Given the description of an element on the screen output the (x, y) to click on. 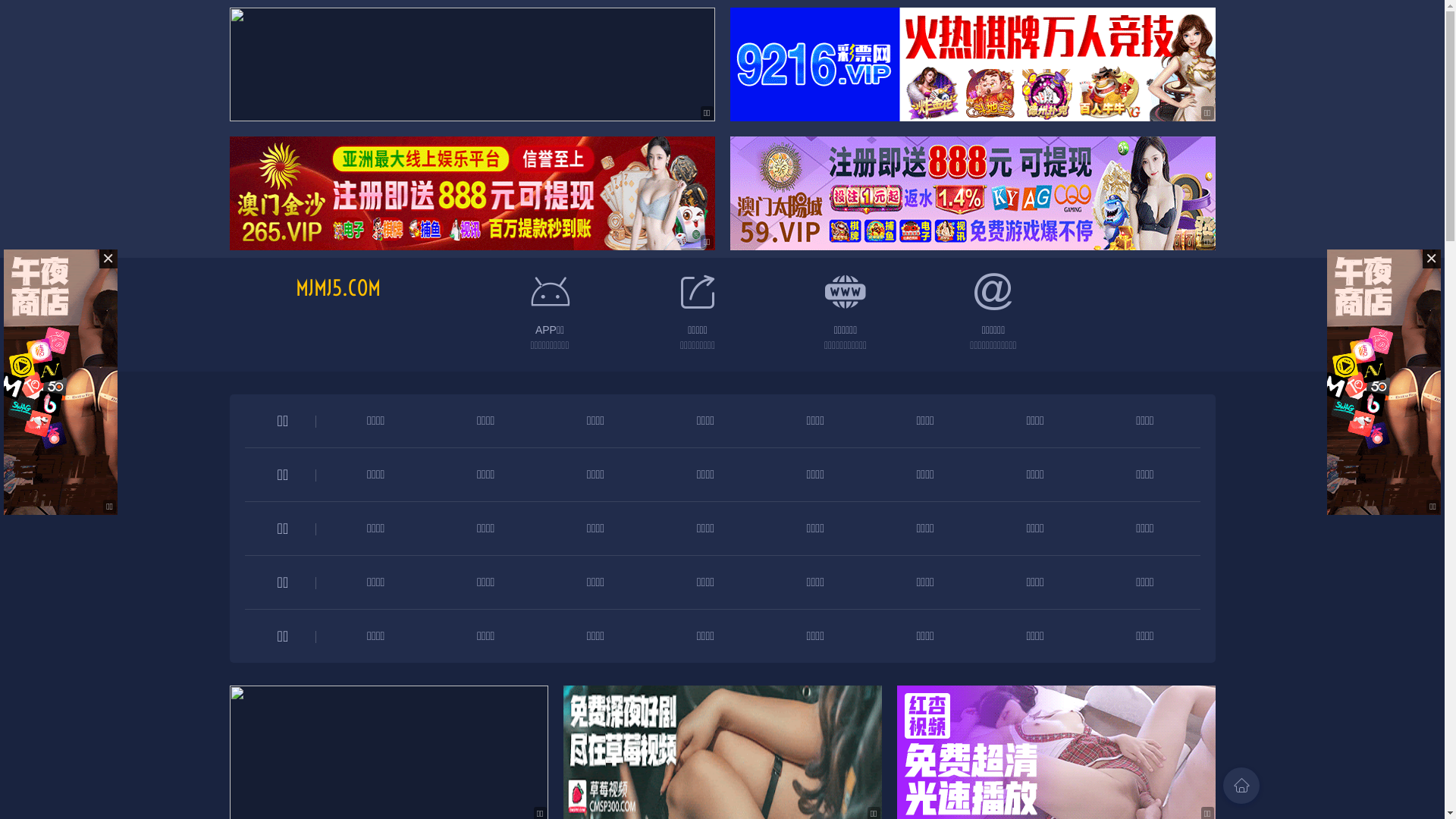
MJMJ5.COM Element type: text (337, 287)
